Given the description of an element on the screen output the (x, y) to click on. 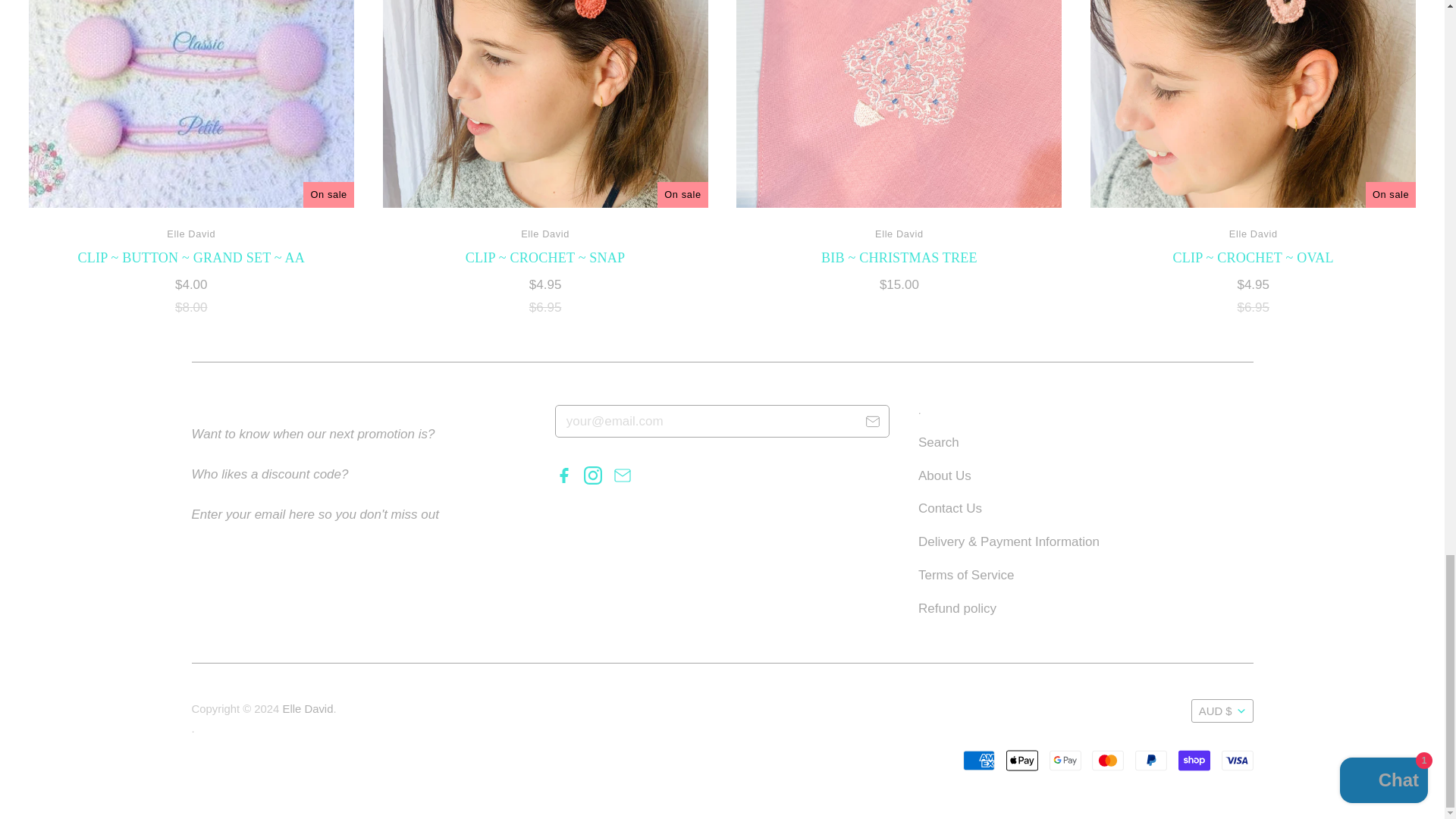
Visa (1236, 760)
Apple Pay (1022, 760)
Elle David (191, 233)
Google Pay (1065, 760)
Elle David (899, 233)
Elle David (545, 233)
American Express (978, 760)
Mastercard (1108, 760)
PayPal (1151, 760)
Elle David (1253, 233)
Shop Pay (1193, 760)
